Given the description of an element on the screen output the (x, y) to click on. 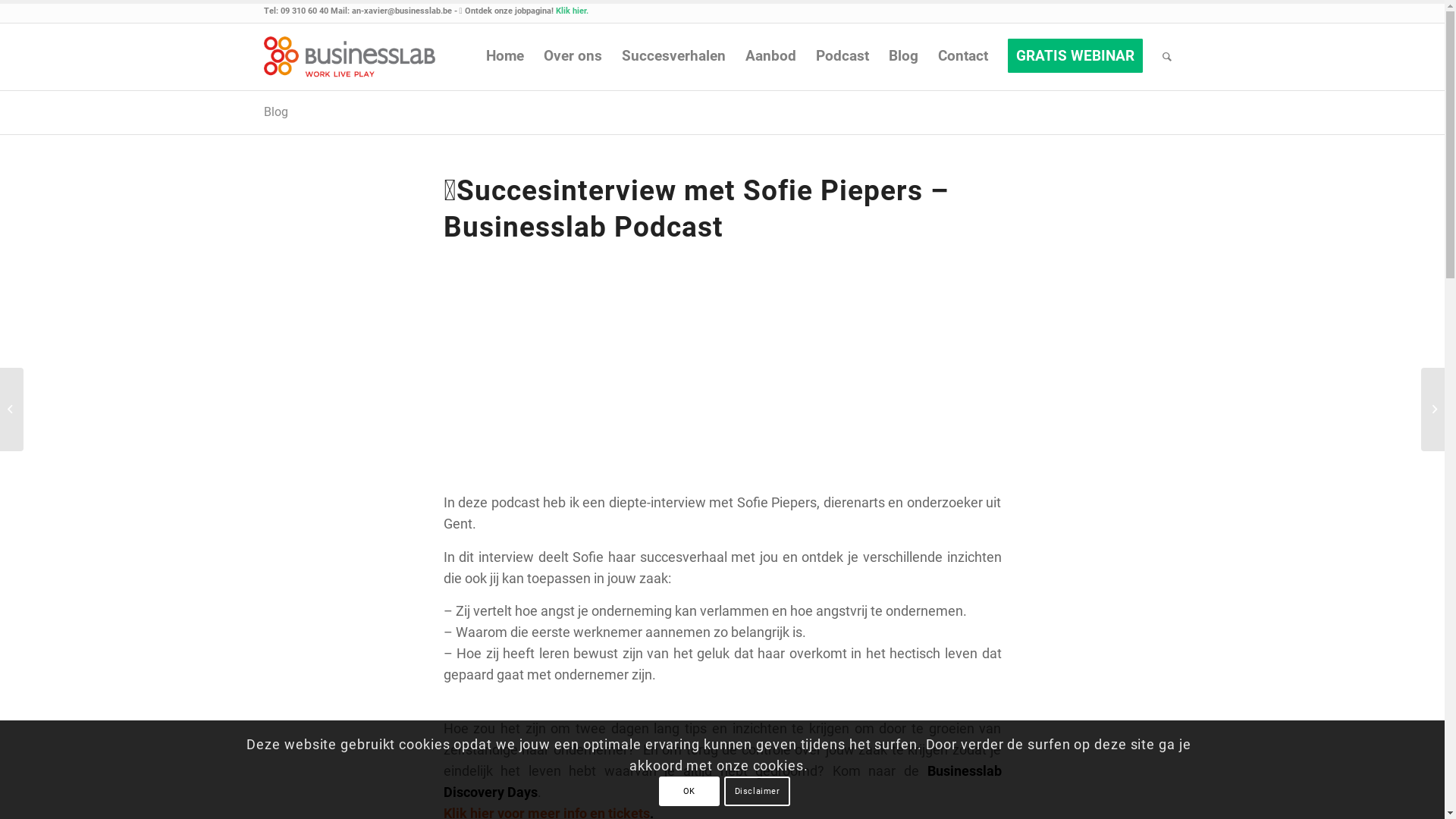
Over ons Element type: text (572, 56)
09 310 60 40 Element type: text (305, 10)
Blog Element type: text (275, 111)
Businesslab Discovery Days Element type: text (721, 781)
Home Element type: text (504, 56)
Aanbod Element type: text (770, 56)
an-xavier@businesslab.be Element type: text (401, 10)
Succesverhalen Element type: text (672, 56)
Podcast Element type: text (841, 56)
GRATIS WEBINAR Element type: text (1074, 56)
OK Element type: text (688, 790)
Contact Element type: text (962, 56)
Blog Element type: text (902, 56)
Disclaimer Element type: text (757, 790)
